Given the description of an element on the screen output the (x, y) to click on. 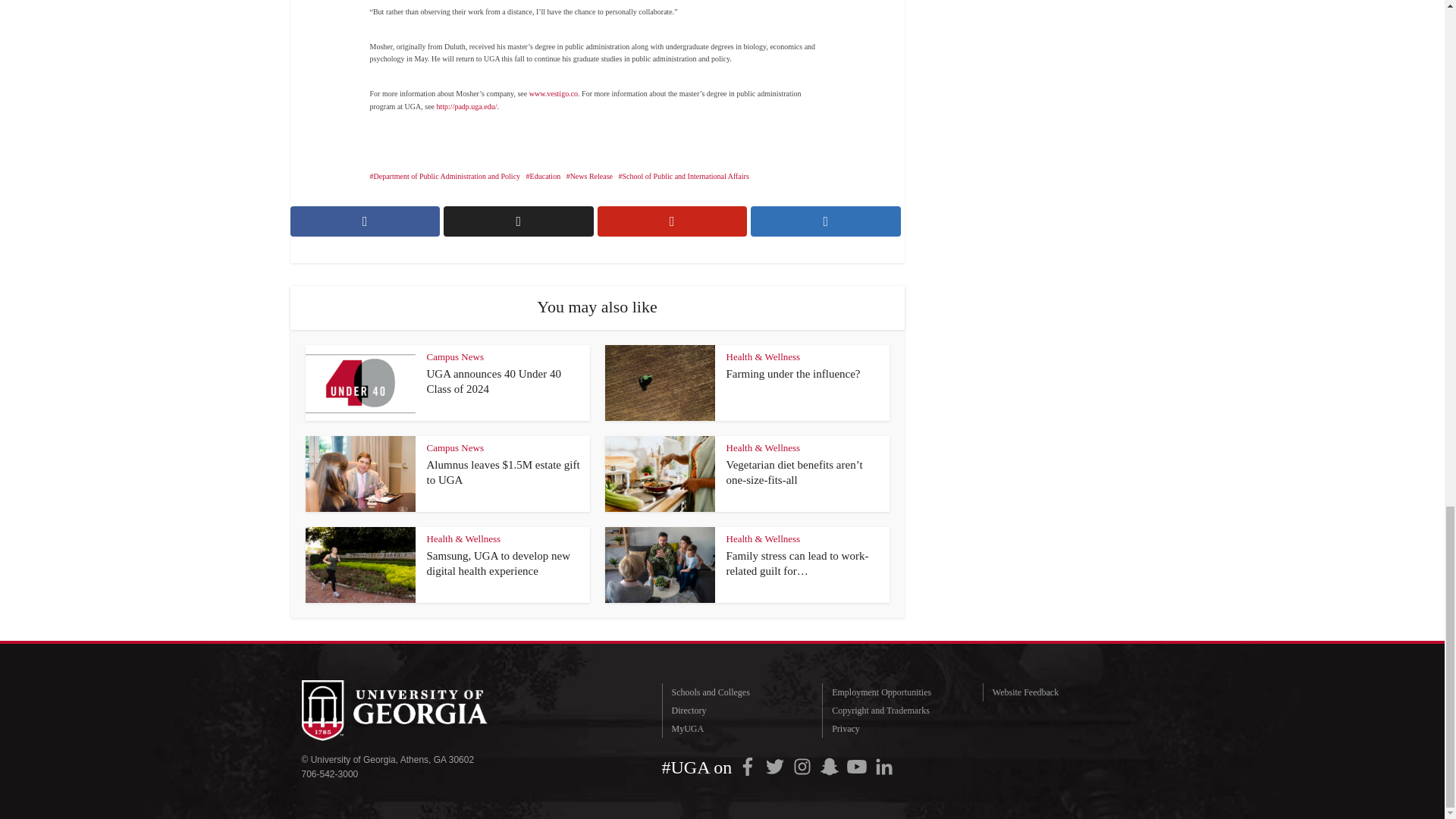
Twitter (774, 766)
Instagram (801, 766)
LinkedIn (883, 766)
Campus News (454, 356)
News Release (589, 175)
YouTube (856, 766)
Instagram (801, 766)
Samsung, UGA to develop new digital health experience (498, 563)
UGA announces 40 Under 40 Class of 2024 (493, 380)
Education (542, 175)
LinkedIn (883, 766)
Farming under the influence? (793, 373)
YouTube (856, 766)
Twitter (774, 766)
Snapchat (829, 766)
